Given the description of an element on the screen output the (x, y) to click on. 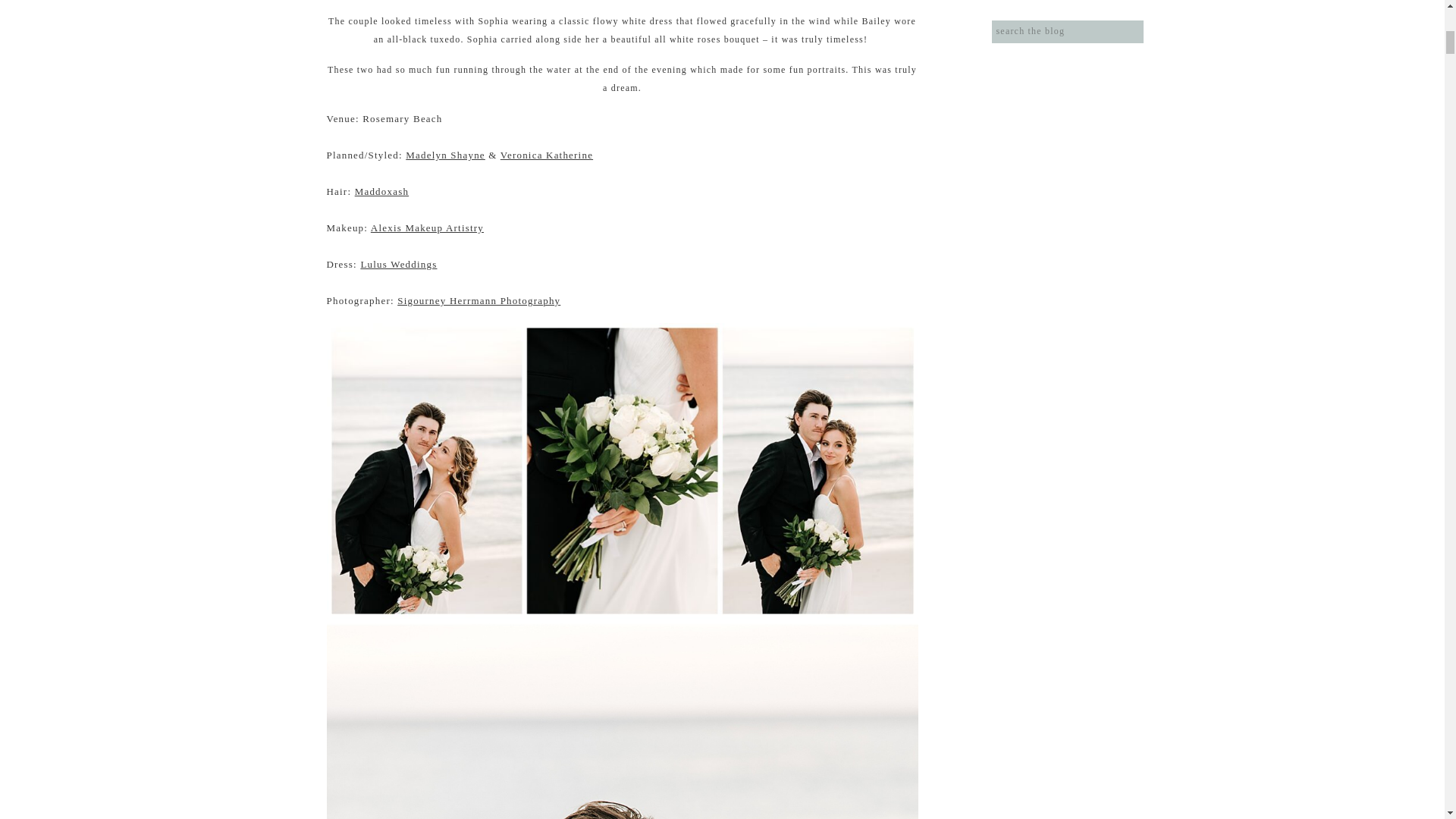
Madelyn Shayne (445, 154)
Veronica Katherine (546, 154)
Maddoxash (382, 191)
Alexis Makeup Artistry (427, 227)
Sigourney Herrmann Photography (478, 300)
Lulus Weddings (397, 264)
